Given the description of an element on the screen output the (x, y) to click on. 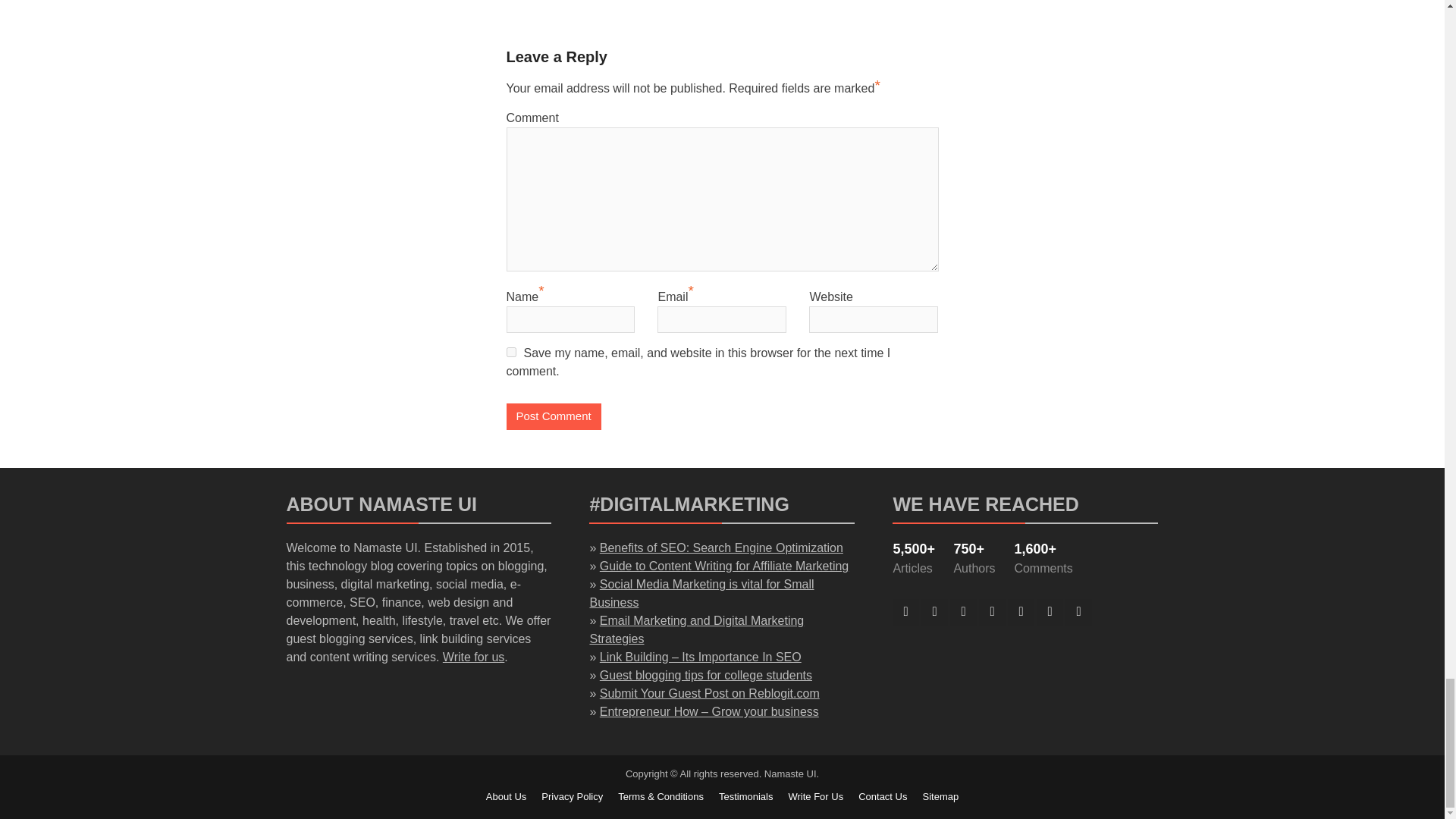
Post Comment (553, 416)
yes (511, 352)
